Given the description of an element on the screen output the (x, y) to click on. 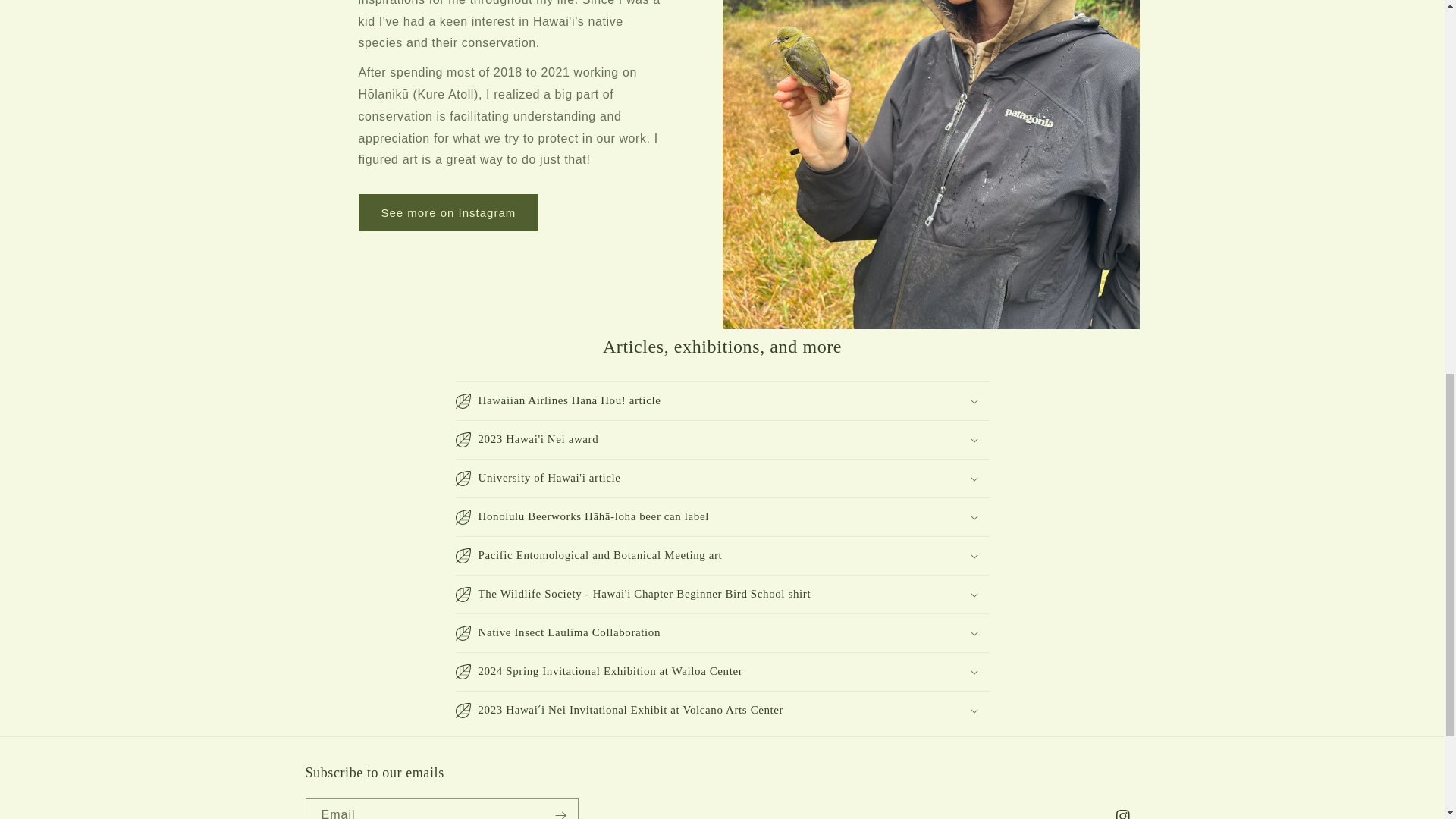
See more on Instagram (448, 212)
